Given the description of an element on the screen output the (x, y) to click on. 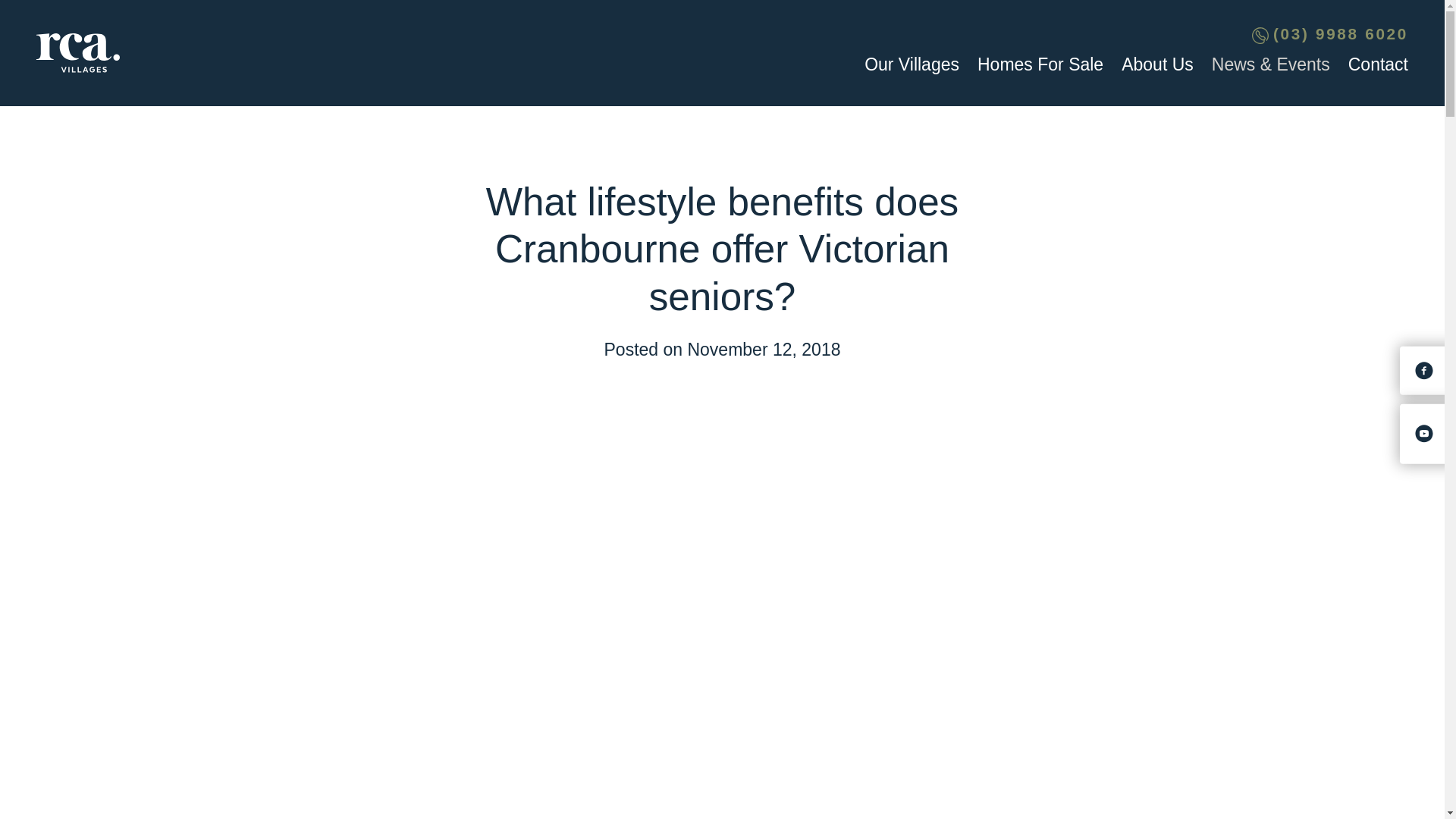
Contact (1377, 64)
Homes For Sale (1039, 64)
About Us (1157, 64)
Our Villages (911, 64)
